Given the description of an element on the screen output the (x, y) to click on. 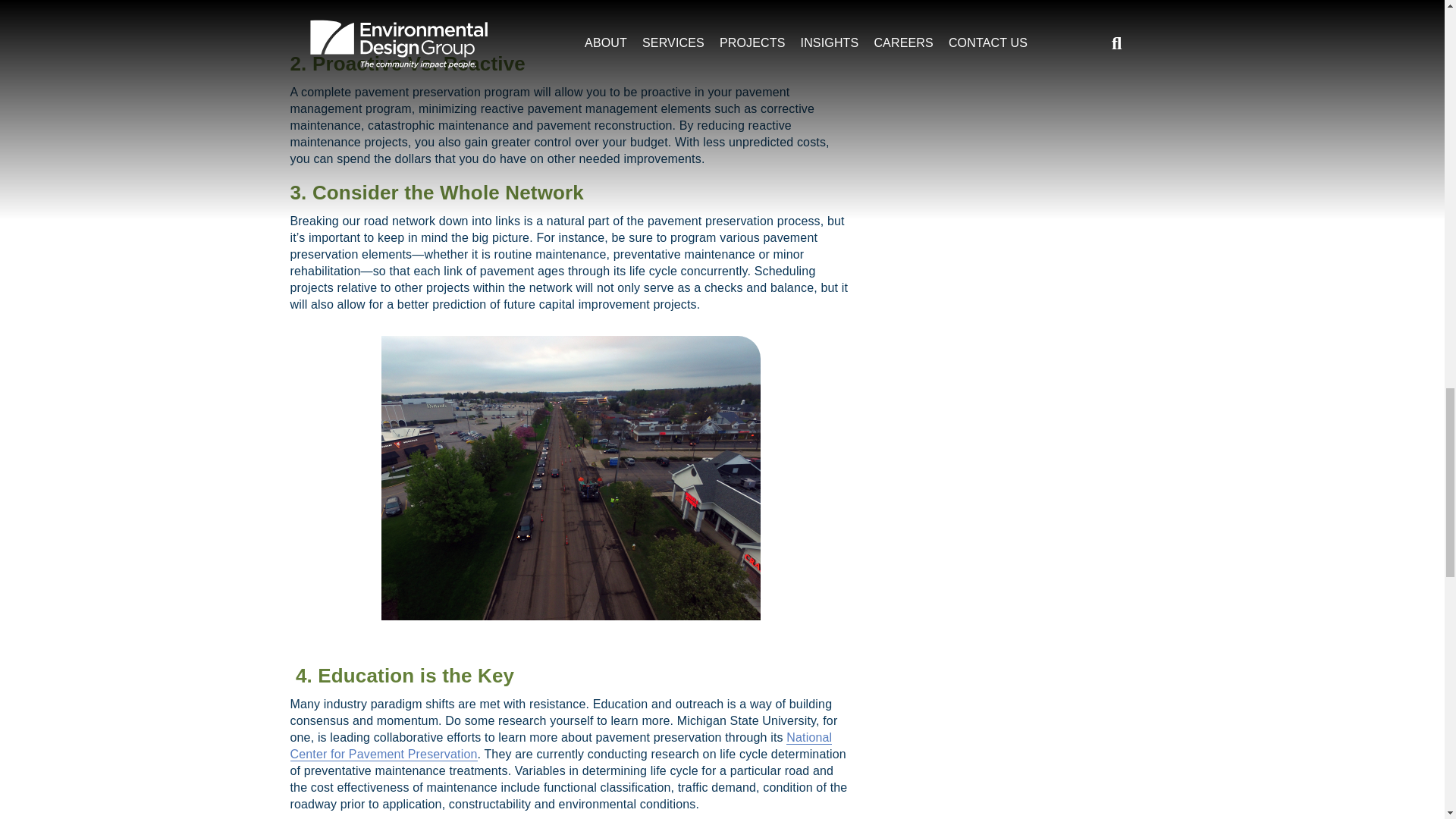
National Center for Pavement Preservation (560, 746)
